Given the description of an element on the screen output the (x, y) to click on. 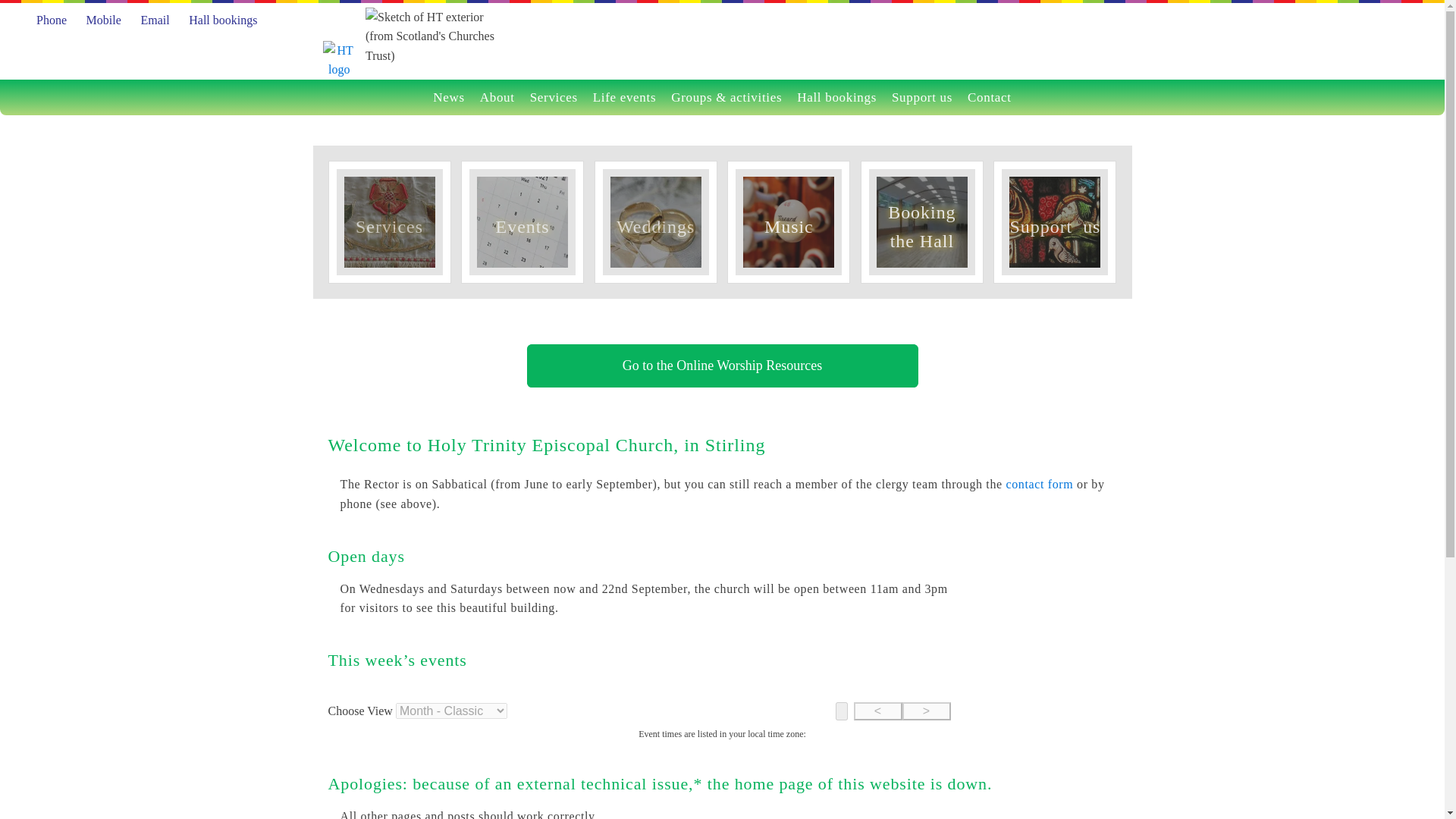
About (496, 97)
Services (553, 97)
News (448, 97)
Email (153, 20)
Mobile (102, 20)
Hall bookings (223, 20)
Phone (51, 20)
